Given the description of an element on the screen output the (x, y) to click on. 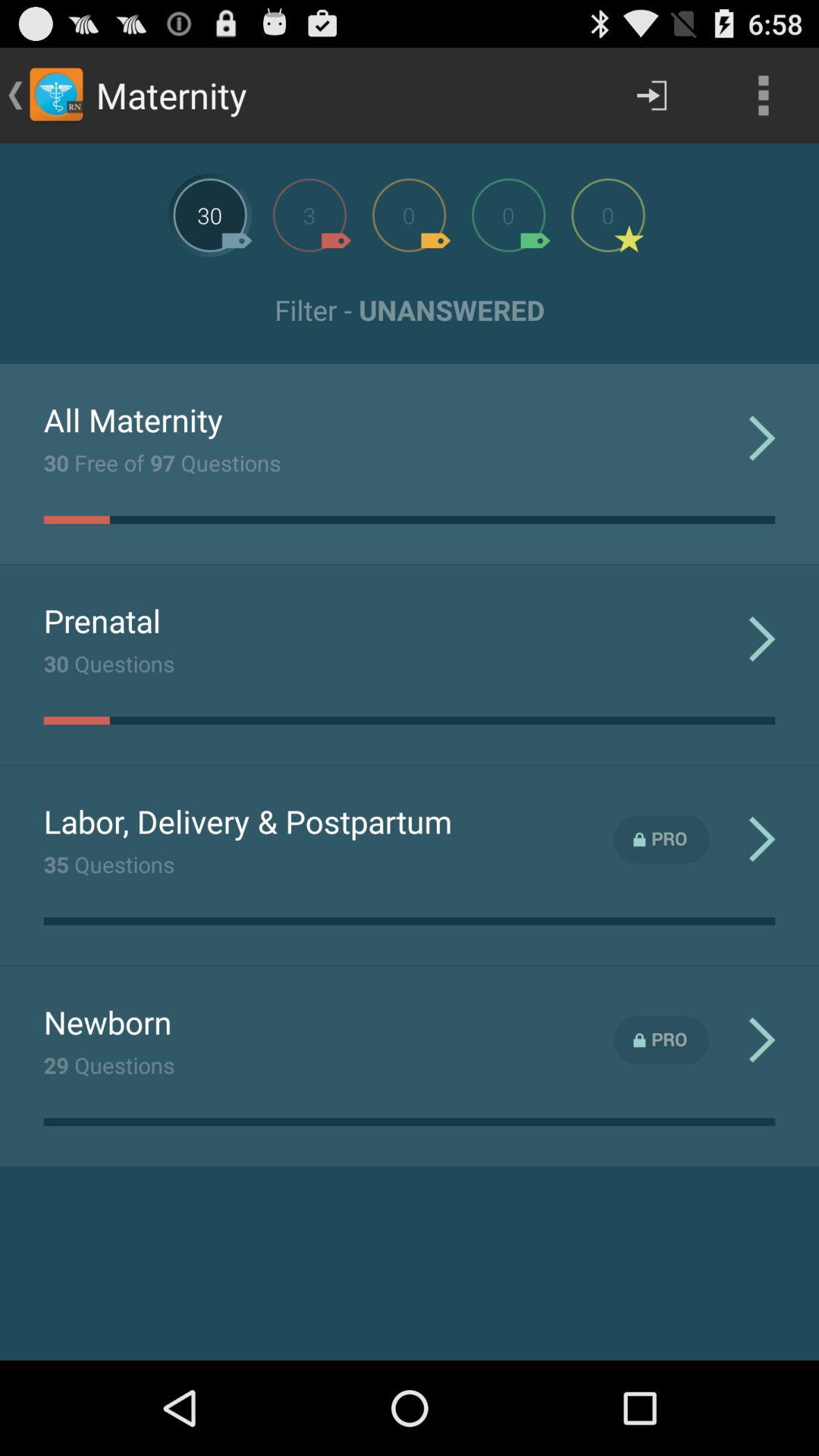
see items with orange tag (409, 215)
